Given the description of an element on the screen output the (x, y) to click on. 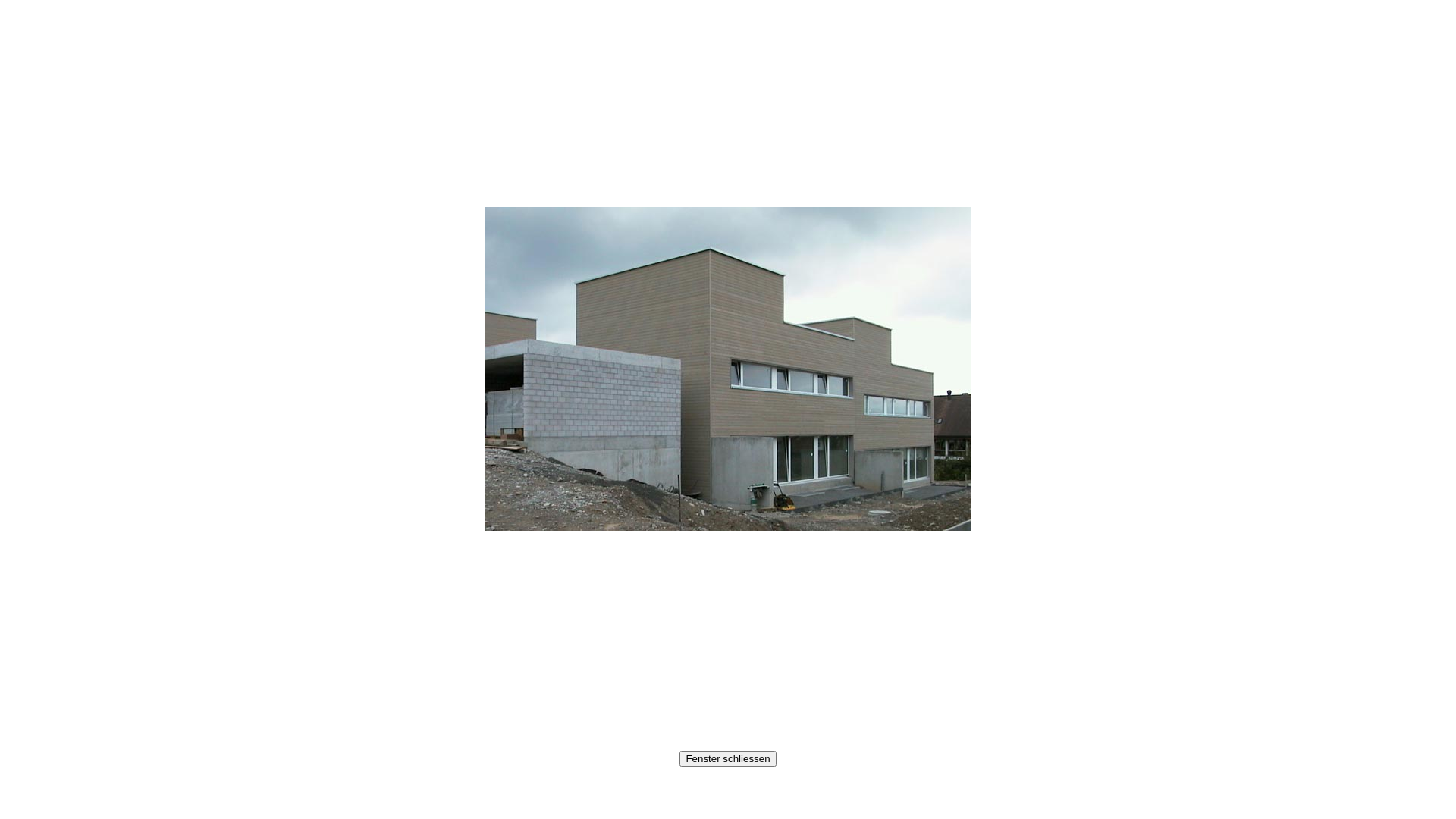
Fenster schliessen Element type: text (727, 758)
